Given the description of an element on the screen output the (x, y) to click on. 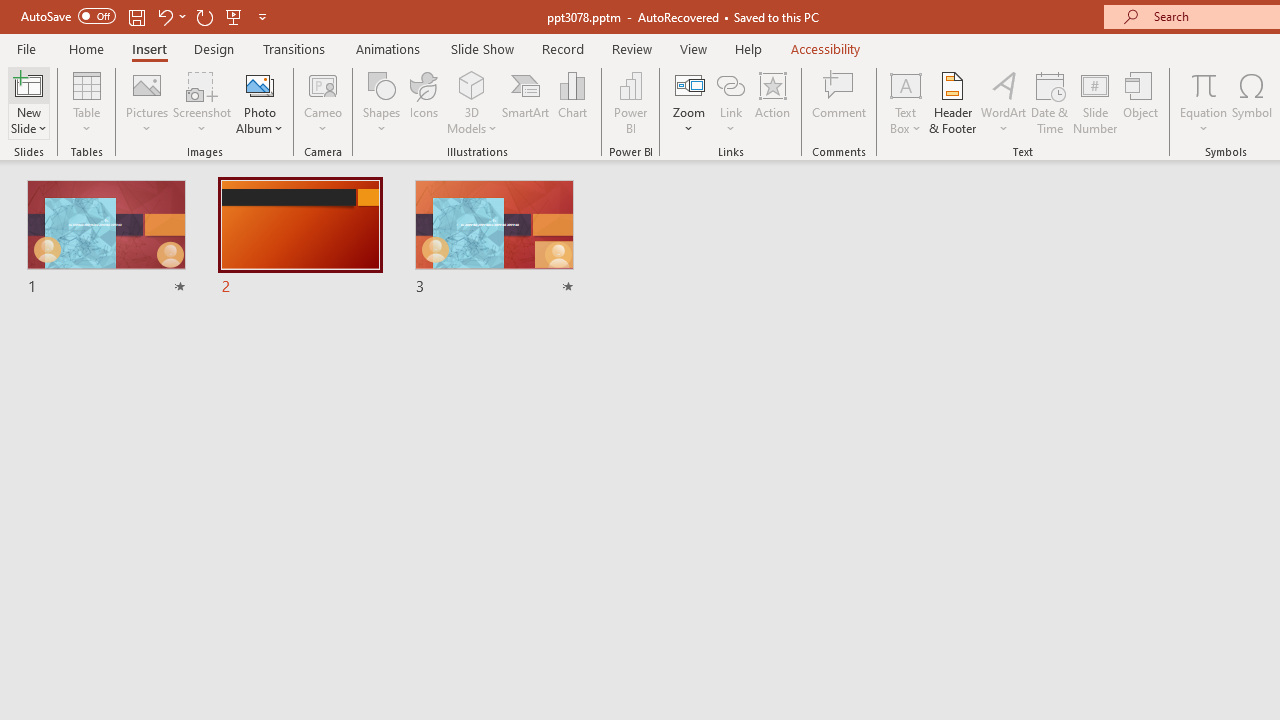
Draw Horizontal Text Box (905, 84)
WordArt (1004, 102)
Photo Album... (259, 102)
Link (731, 84)
